Given the description of an element on the screen output the (x, y) to click on. 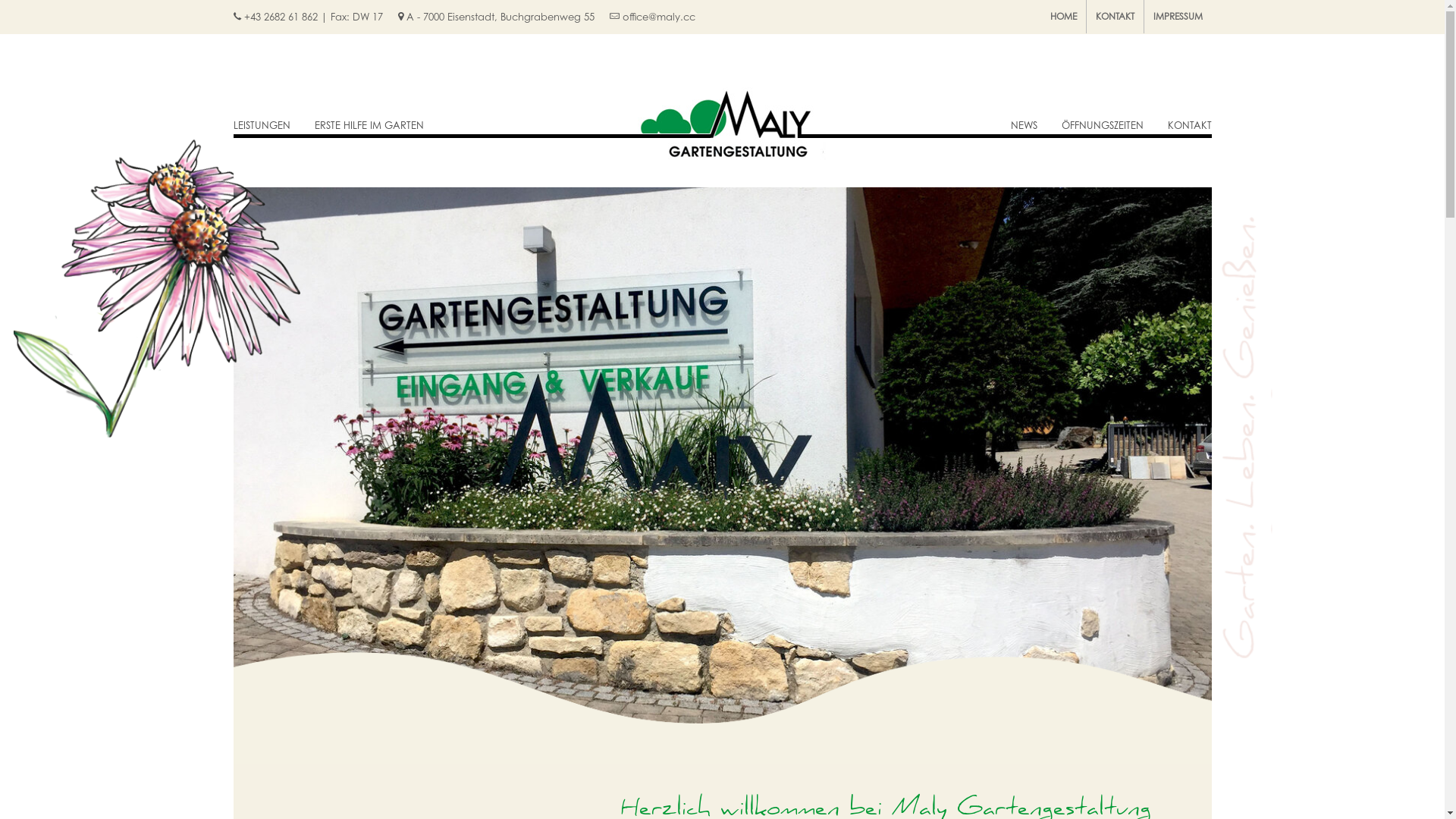
NEWS Element type: text (1029, 110)
LEISTUNGEN Element type: text (267, 110)
IMPRESSUM Element type: text (1177, 16)
HOME Element type: text (1062, 16)
KONTAKT Element type: text (1183, 110)
ERSTE HILFE IM GARTEN Element type: text (363, 110)
KONTAKT Element type: text (1113, 16)
